Given the description of an element on the screen output the (x, y) to click on. 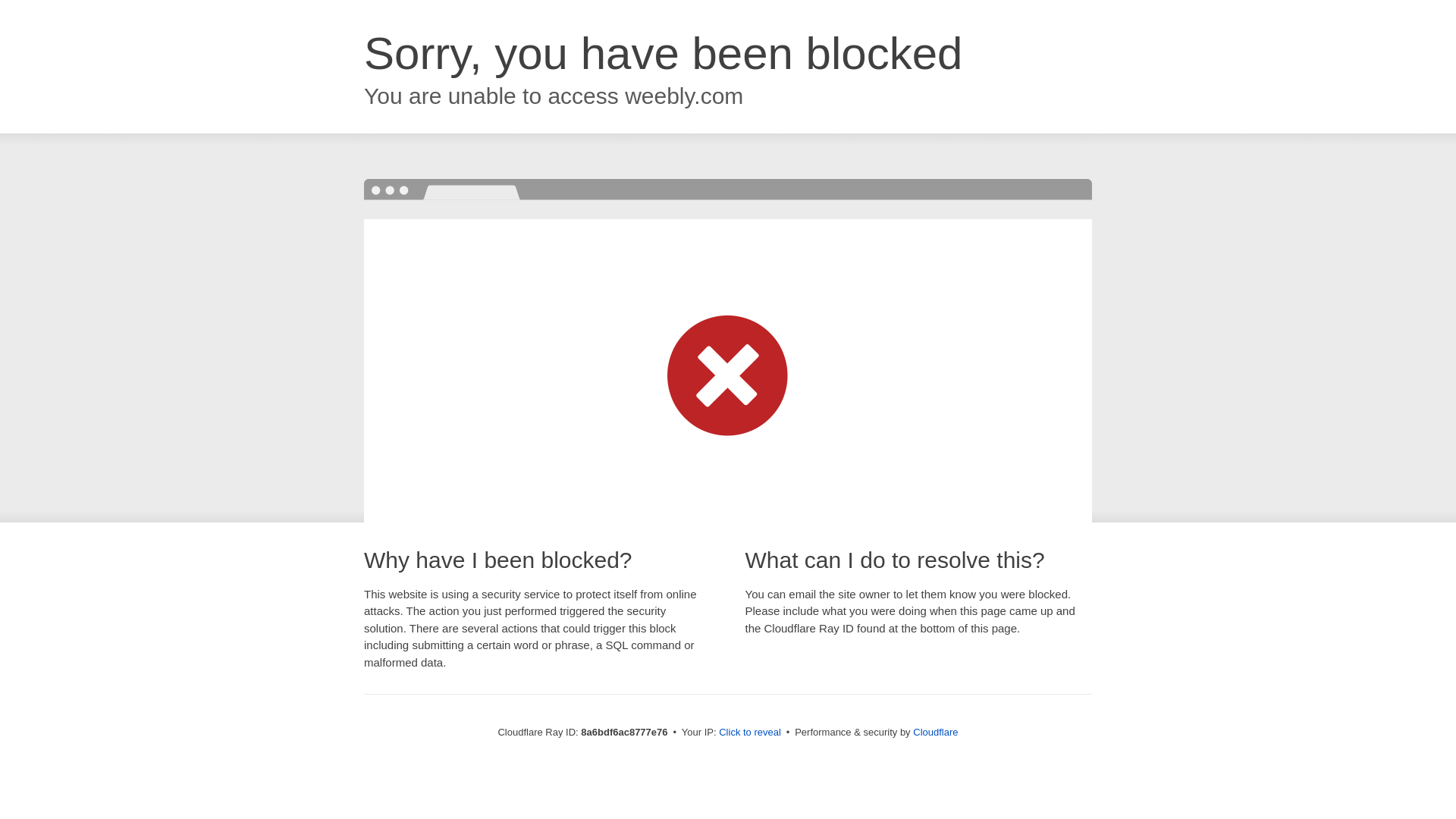
Click to reveal (749, 732)
Cloudflare (935, 731)
